Given the description of an element on the screen output the (x, y) to click on. 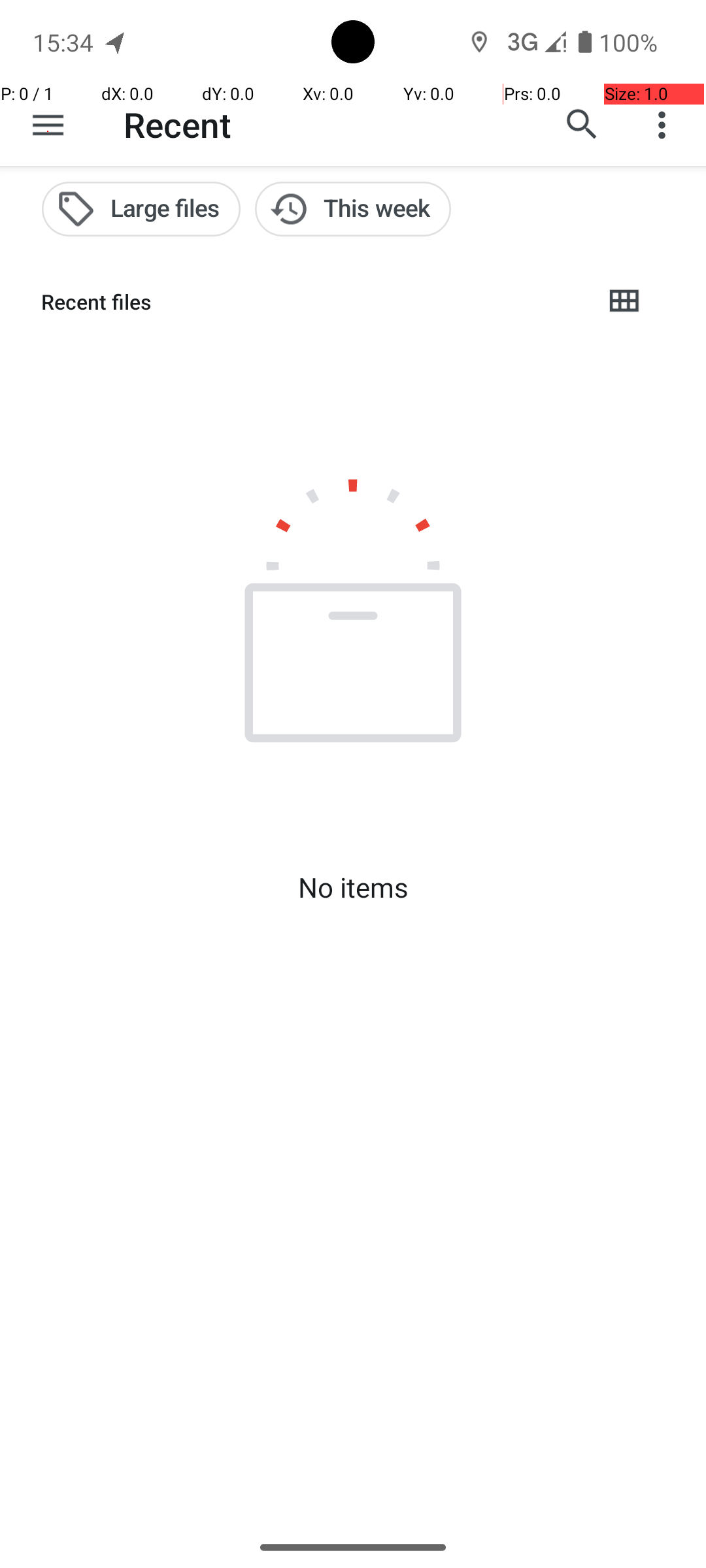
Show roots Element type: android.widget.ImageButton (48, 124)
Recent Element type: android.widget.TextView (177, 124)
Search Element type: android.widget.TextView (581, 124)
More options Element type: android.widget.ImageView (664, 124)
Recent files Element type: android.widget.TextView (311, 301)
Grid view Element type: android.widget.TextView (622, 301)
Large files Element type: android.widget.CompoundButton (140, 208)
This week Element type: android.widget.CompoundButton (352, 208)
No items Element type: android.widget.TextView (353, 886)
OpenTracks notification: Distance: 0.00 ft Element type: android.widget.ImageView (115, 41)
Location requests active Element type: android.widget.ImageView (479, 41)
Phone two bars. Element type: android.widget.FrameLayout (534, 41)
